Given the description of an element on the screen output the (x, y) to click on. 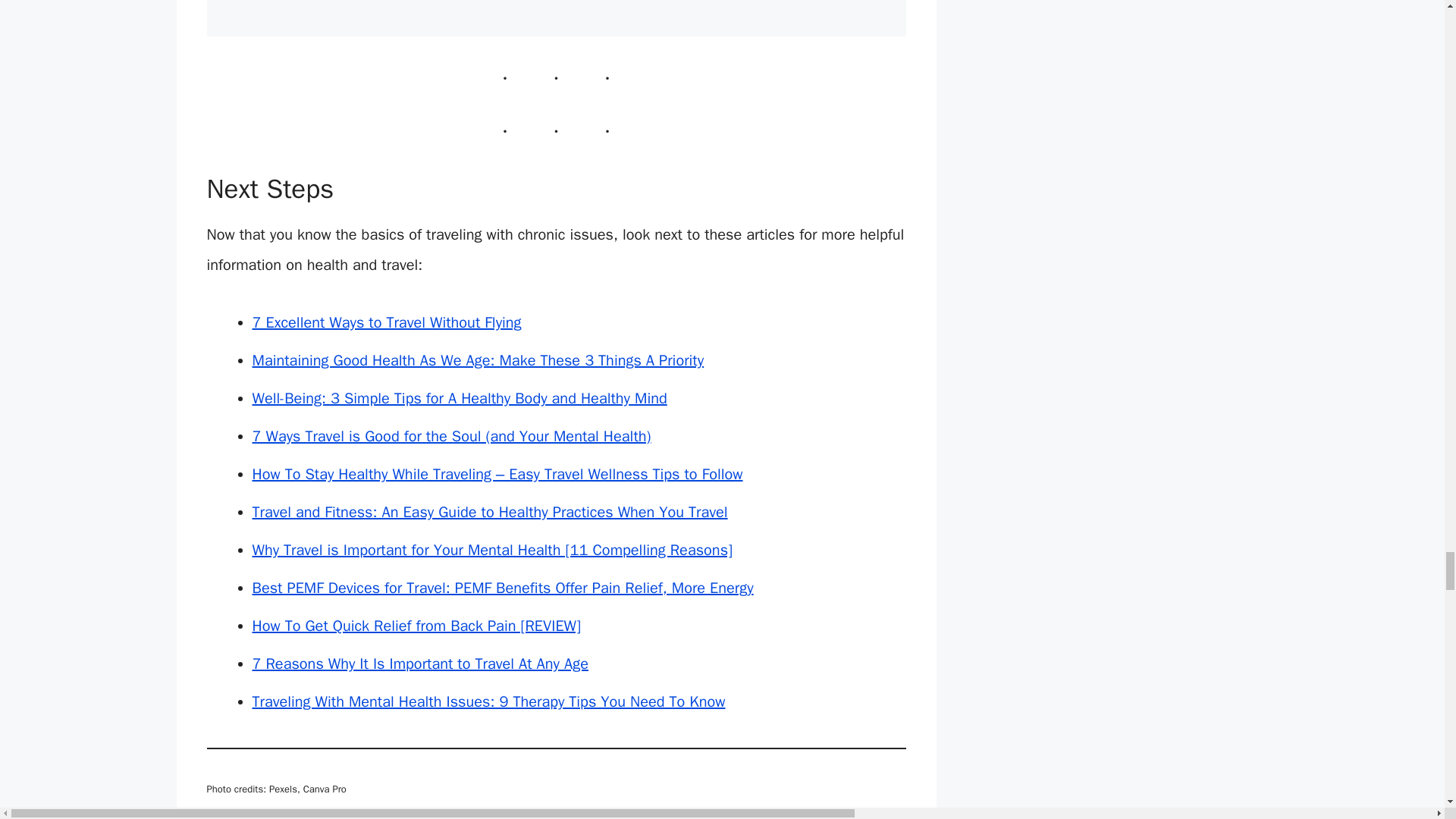
Send over email (404, 818)
Save to Pinterest (330, 818)
Share on X (255, 818)
Share on Buffer (293, 818)
Share on Facebook (218, 818)
Share on LinkedIn (367, 818)
